Given the description of an element on the screen output the (x, y) to click on. 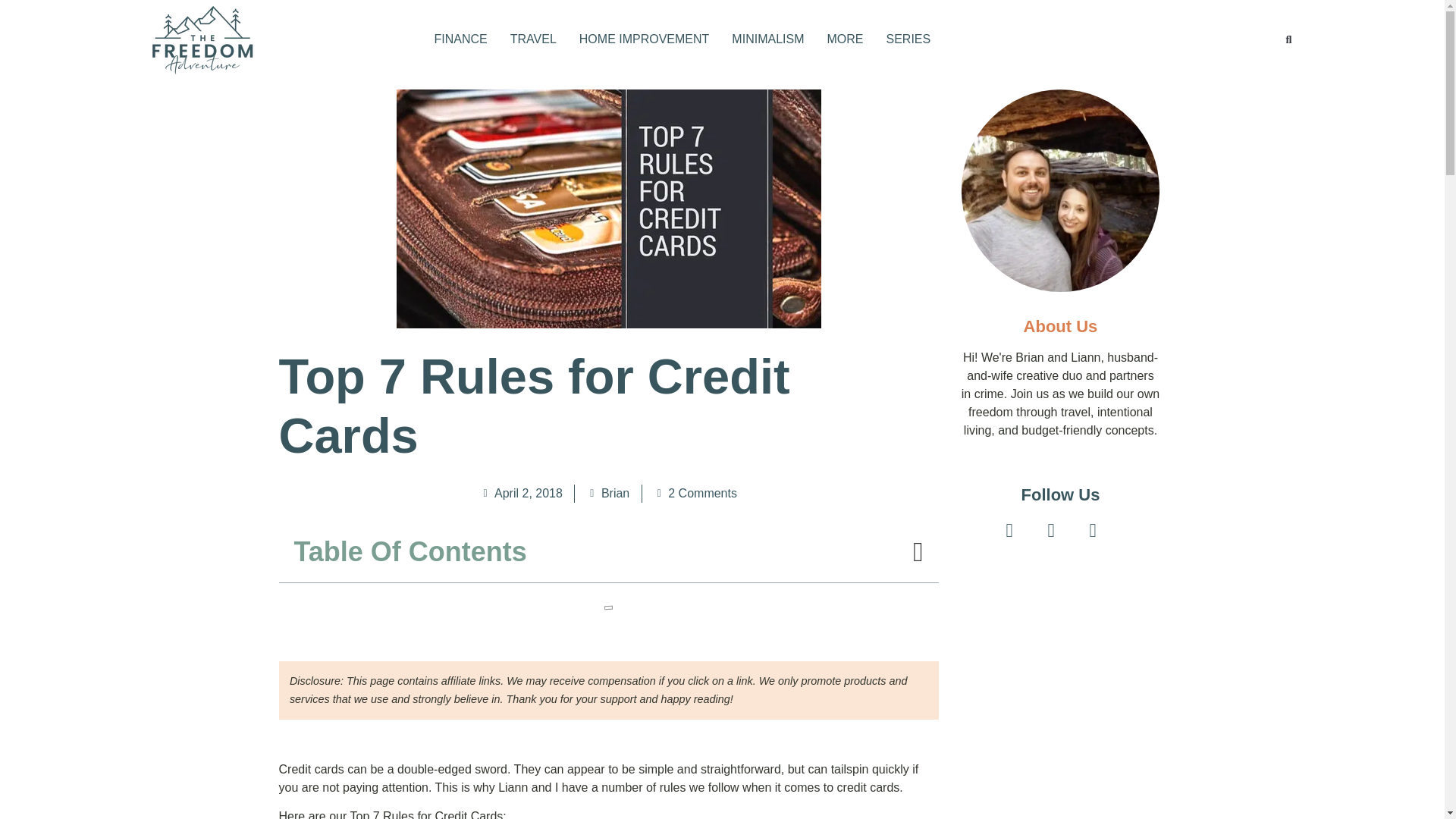
2 Comments (694, 493)
FINANCE (459, 39)
April 2, 2018 (521, 493)
TRAVEL (533, 39)
SERIES (907, 39)
Brian (607, 493)
MINIMALISM (767, 39)
HOME IMPROVEMENT (644, 39)
MORE (845, 39)
